Given the description of an element on the screen output the (x, y) to click on. 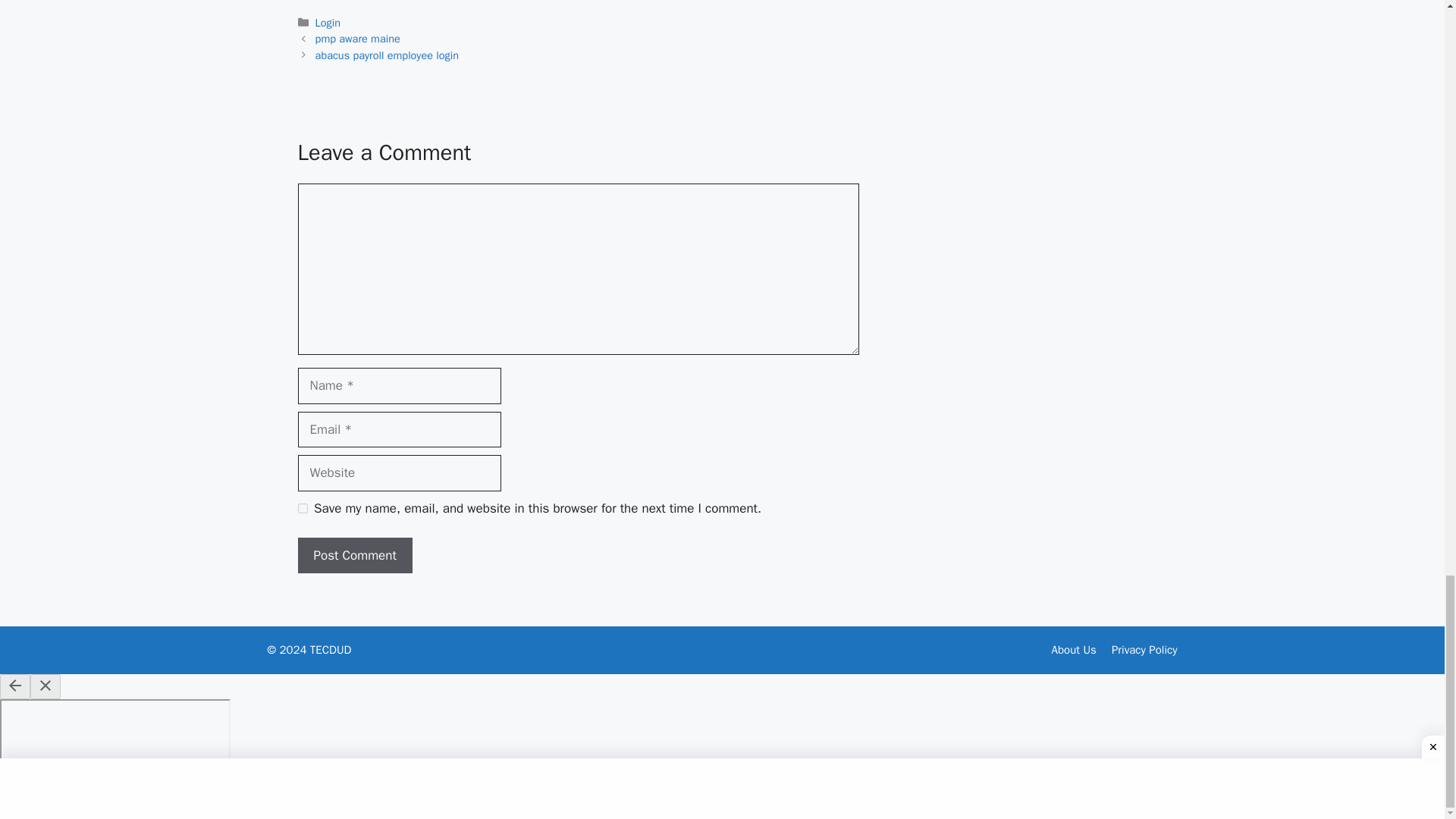
Post Comment (354, 555)
About Us (1073, 649)
Login (327, 22)
abacus payroll employee login (386, 55)
pmp aware maine (357, 38)
Privacy Policy (1144, 649)
Post Comment (354, 555)
yes (302, 508)
